Given the description of an element on the screen output the (x, y) to click on. 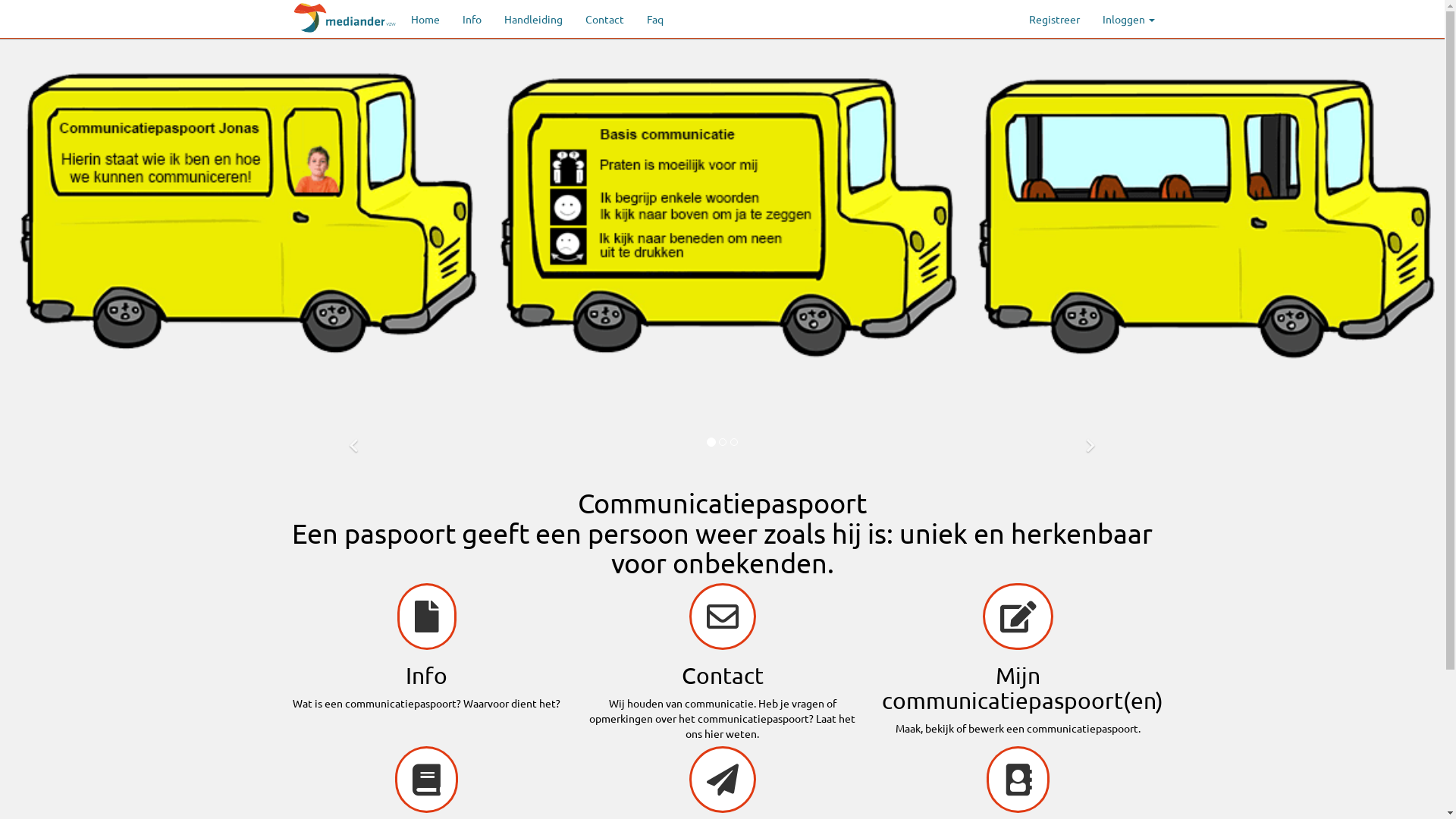
Faq Element type: text (654, 18)
Info
Wat is een communicatiepaspoort? Waarvoor dient het? Element type: text (425, 647)
Volgende Element type: text (1090, 441)
Info Element type: text (471, 18)
Inloggen Element type: text (1127, 18)
Vorige Element type: text (353, 441)
Registreer Element type: text (1054, 18)
Handleiding Element type: text (533, 18)
Contact Element type: text (603, 18)
Home Element type: text (424, 18)
